Given the description of an element on the screen output the (x, y) to click on. 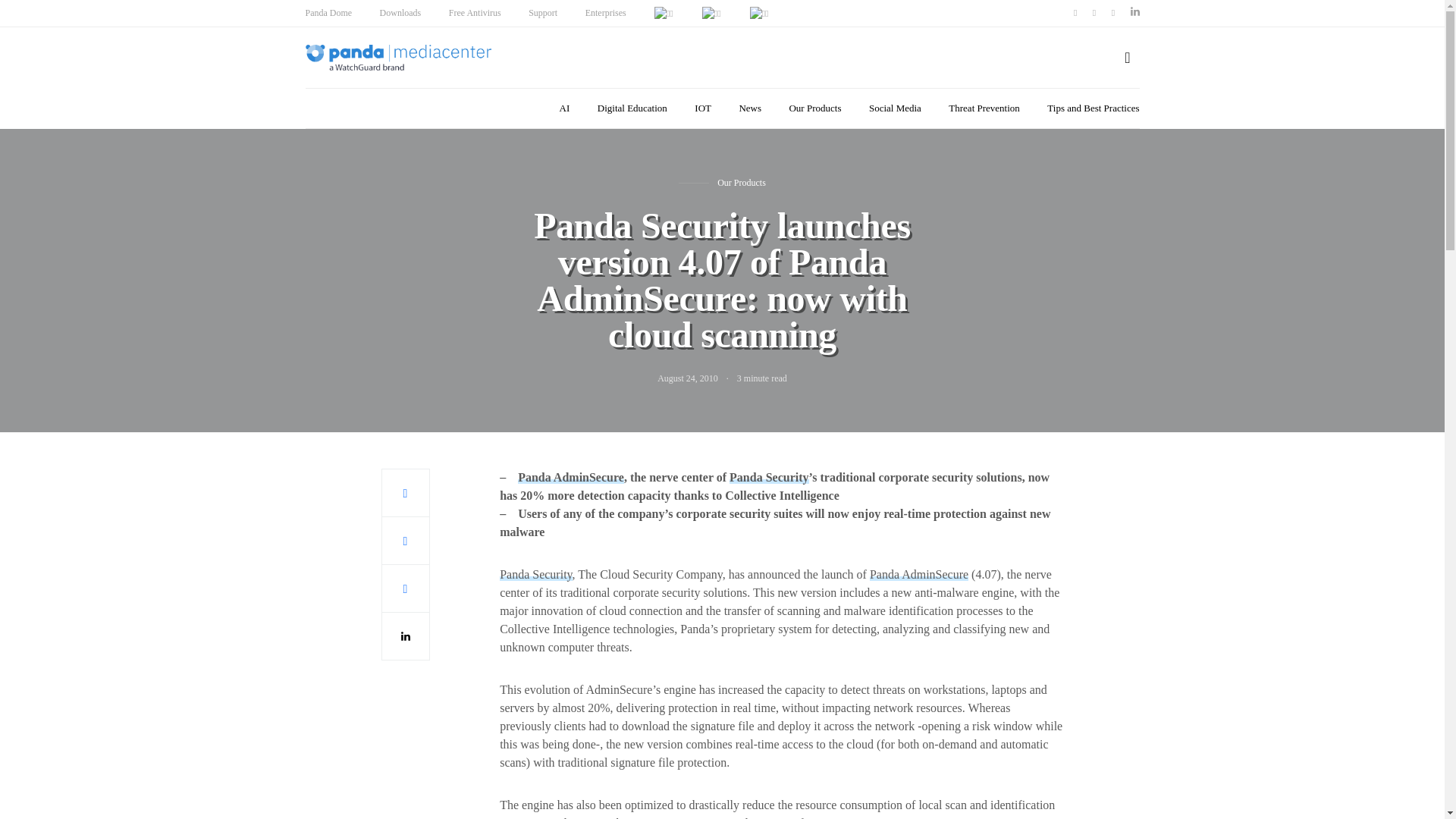
Support (542, 12)
Panda Dome (328, 12)
Our Products (815, 107)
Panda AdminSecure (918, 574)
Downloads (401, 12)
Threat Prevention (984, 107)
Digital Education (631, 107)
Free Antivirus (474, 12)
Panda AdminSecure (571, 477)
Panda Security (768, 477)
